Given the description of an element on the screen output the (x, y) to click on. 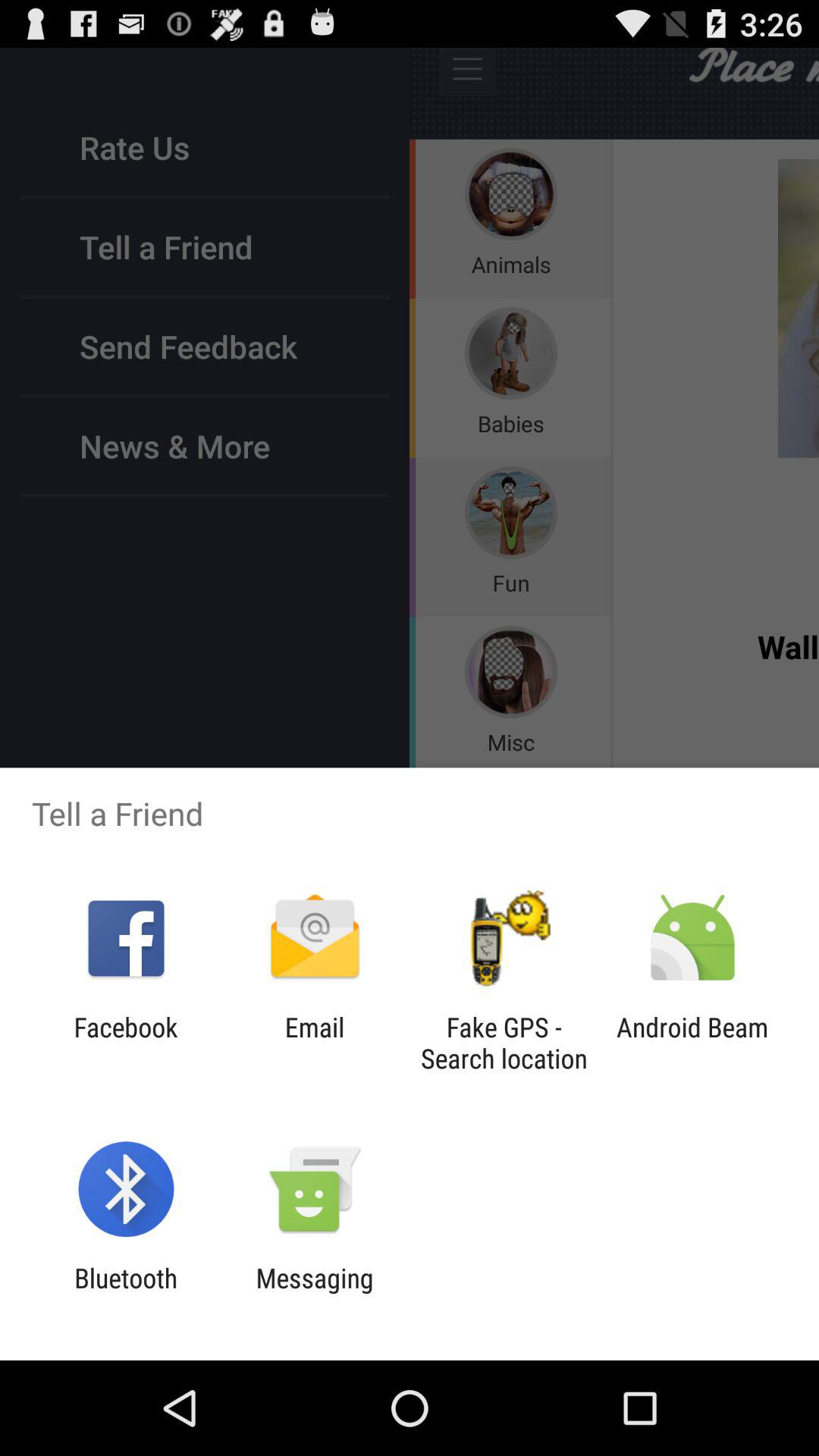
jump until the fake gps search icon (503, 1042)
